Given the description of an element on the screen output the (x, y) to click on. 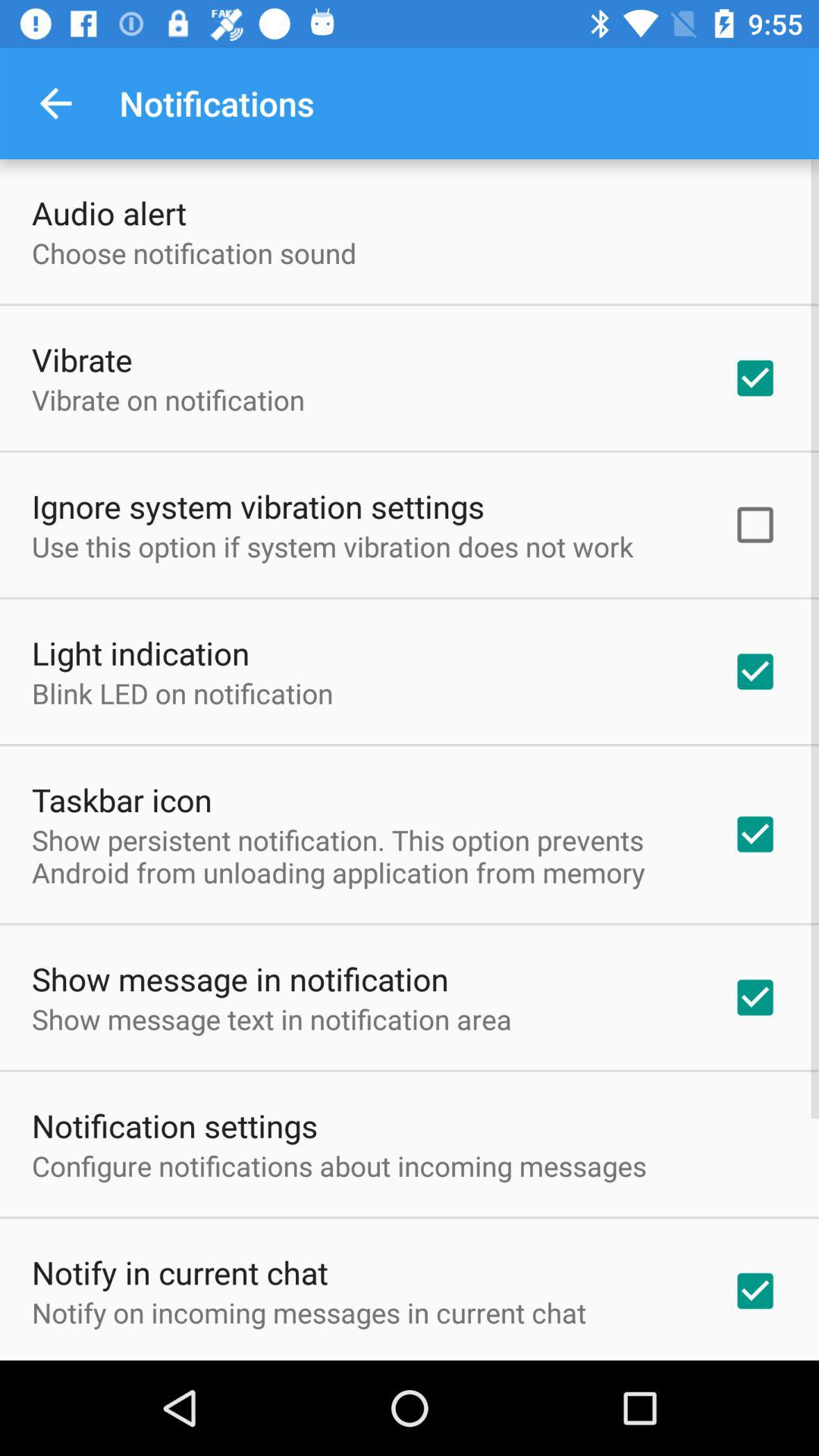
open light indication icon (140, 652)
